Given the description of an element on the screen output the (x, y) to click on. 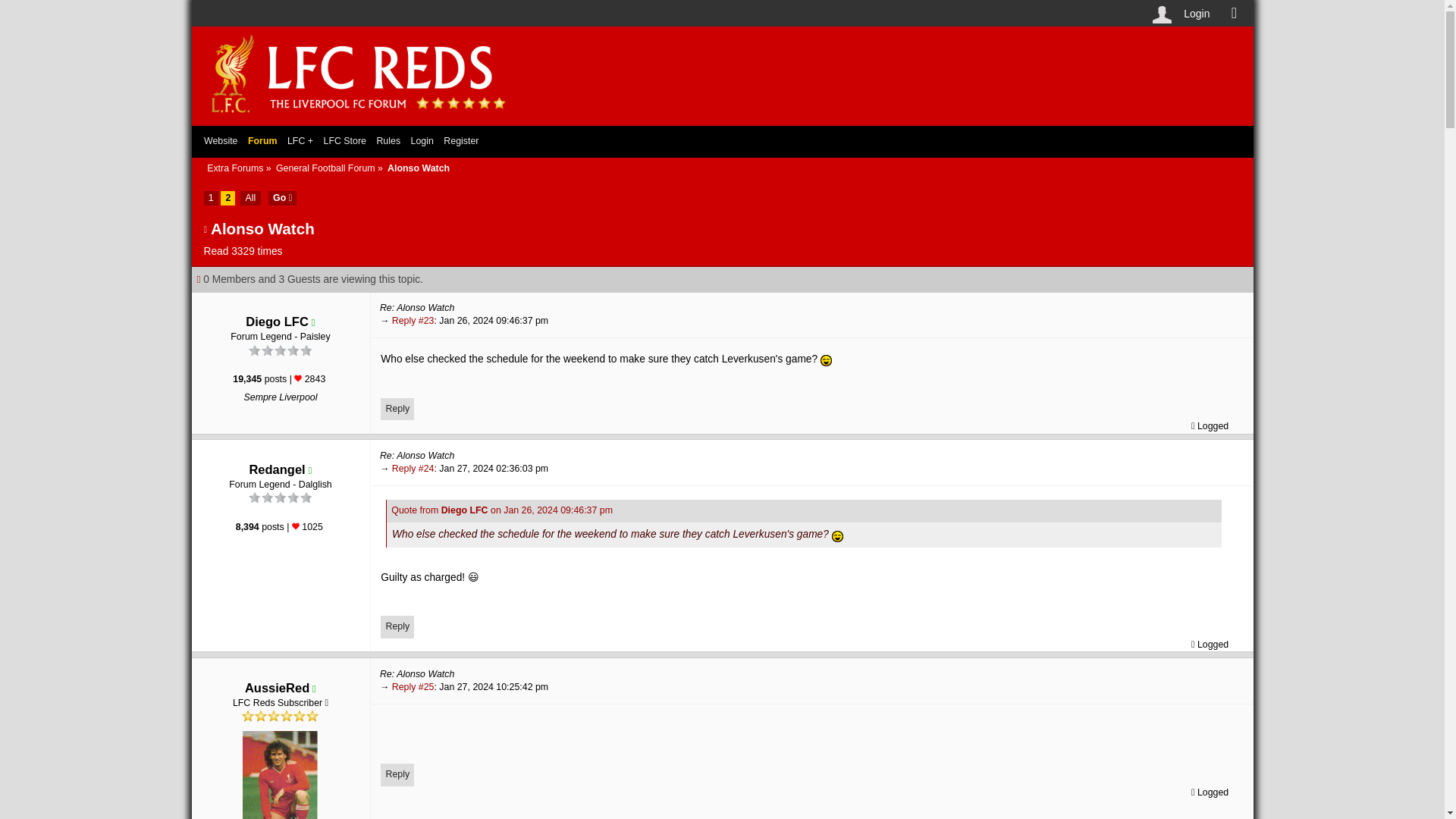
Login (1195, 13)
View the profile of AussieRed (276, 687)
Post Rating (297, 378)
Cheesy (837, 536)
LFC Reds Forum (361, 118)
Cheesy (826, 360)
View the profile of Diego LFC (277, 321)
Post Rating (295, 525)
View the profile of Redangel (276, 468)
